Given the description of an element on the screen output the (x, y) to click on. 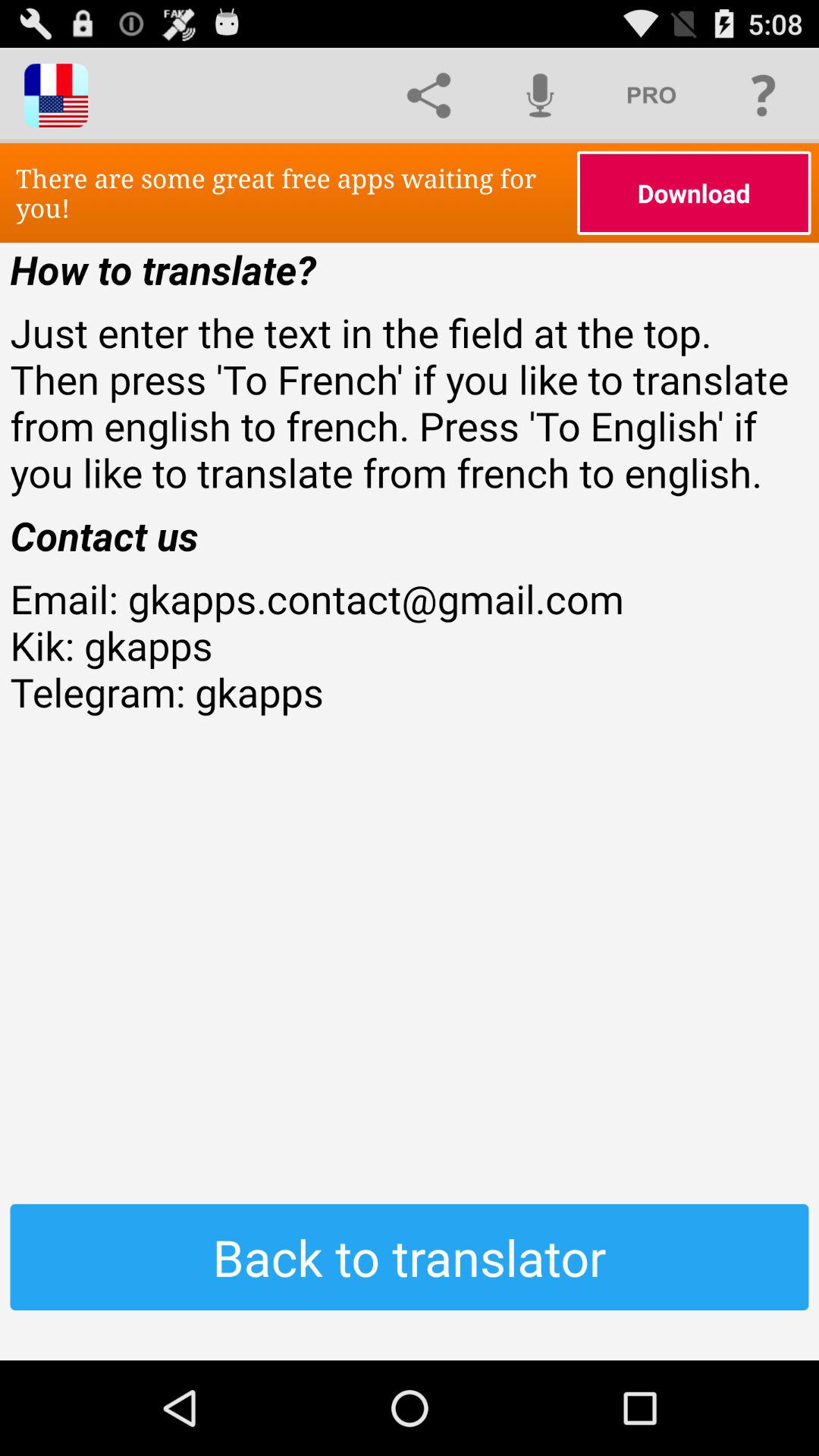
select just enter the app (409, 401)
